Given the description of an element on the screen output the (x, y) to click on. 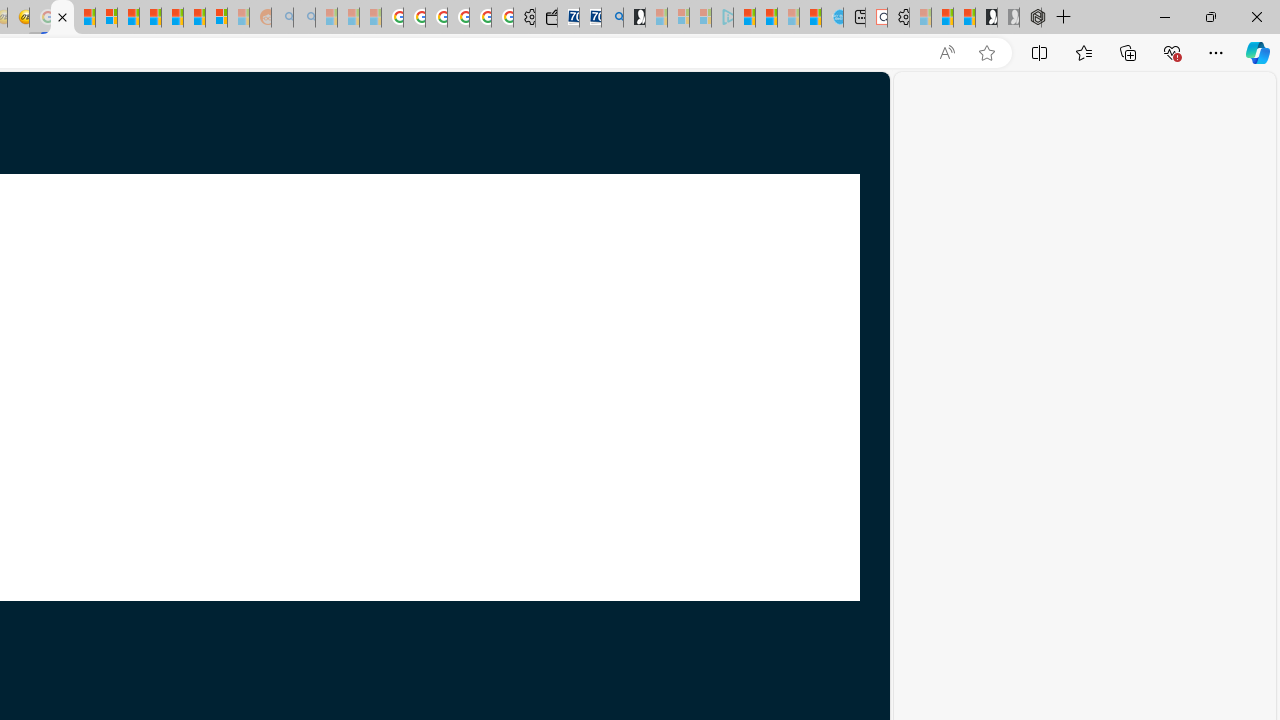
Student Loan Update: Forgiveness Program Ends This Month (150, 17)
Bing Real Estate - Home sales and rental listings (612, 17)
